Given the description of an element on the screen output the (x, y) to click on. 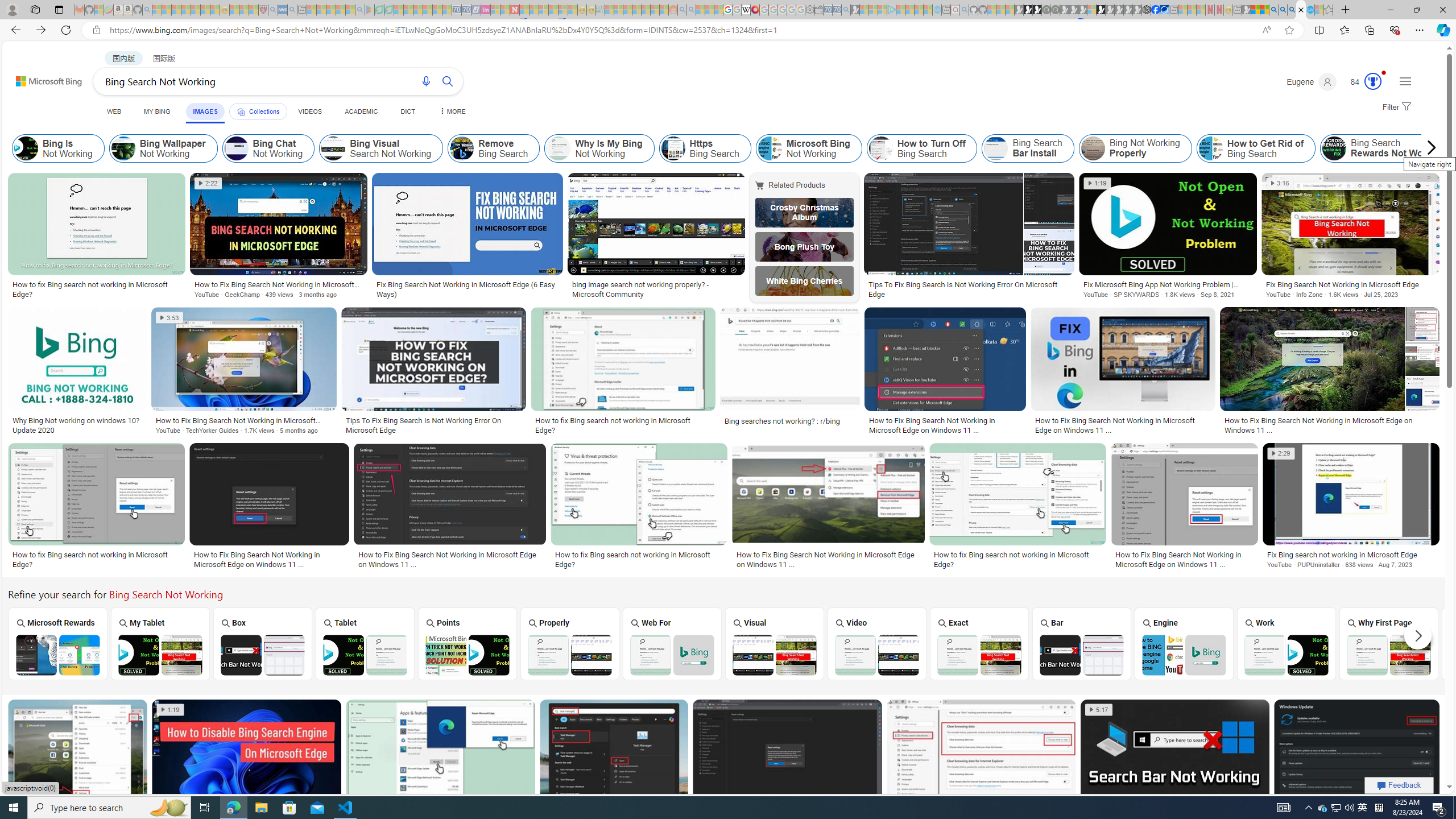
Bing searches not working? : r/bingSave (792, 372)
Bing Crosby Christmas Album (804, 212)
How to fix Bing search not working in Microsoft Edge? (1017, 559)
Microsoft account | Privacy - Sleeping (882, 9)
Target page - Wikipedia (745, 9)
MY BING (156, 111)
Image result for Bing Search Not Working (1356, 751)
Bing Tablet Search Not Working (364, 655)
Microsoft Rewards 84 (1362, 81)
White Bing Cherries (804, 280)
MSNBC - MSN - Sleeping (608, 9)
